Given the description of an element on the screen output the (x, y) to click on. 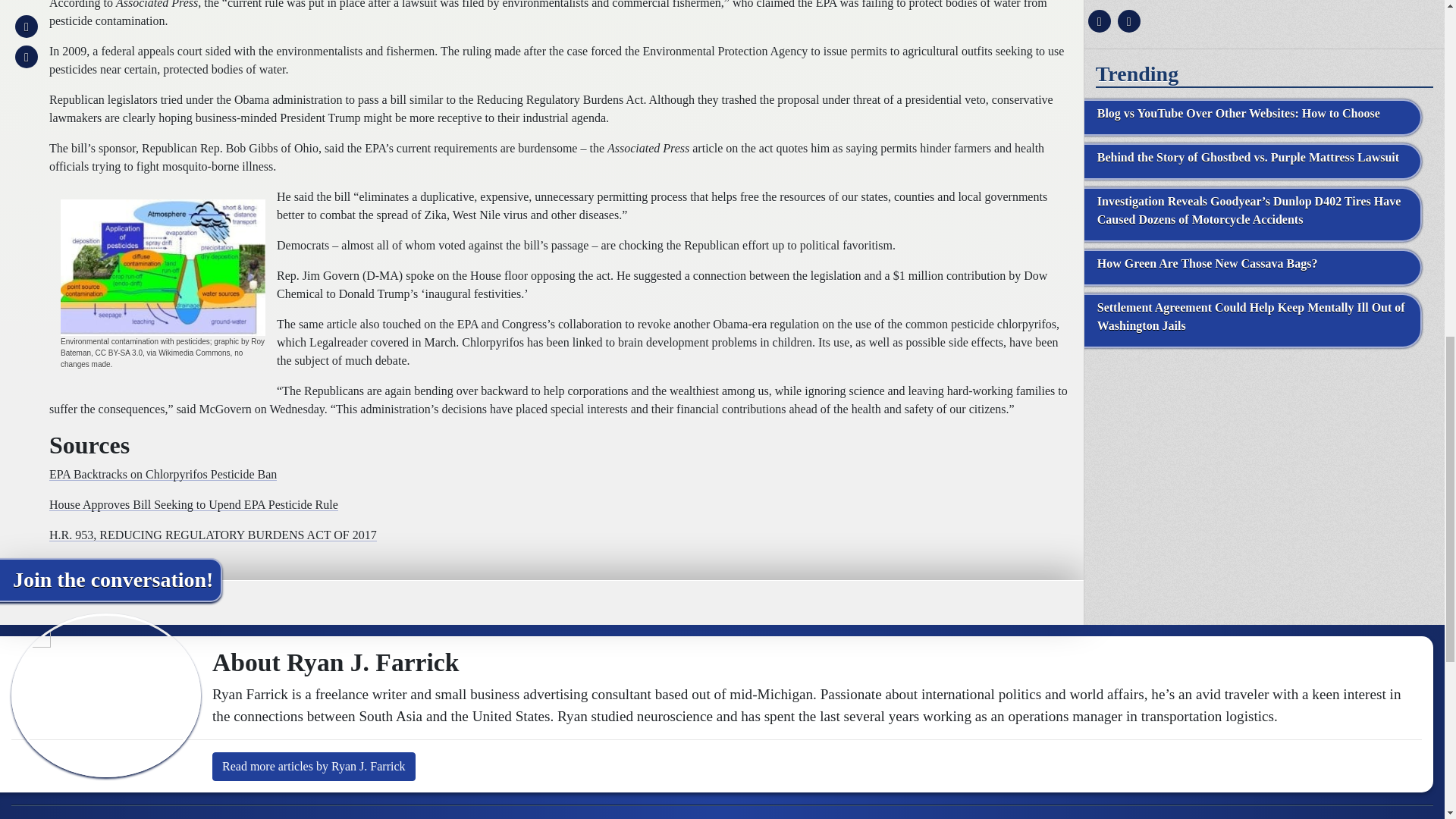
EPA Backtracks on Chlorpyrifos Pesticide Ban (162, 473)
H.R. 953, REDUCING REGULATORY BURDENS ACT OF 2017 (213, 534)
Read more articles by Ryan J. Farrick (313, 766)
Read more articles by Ryan J. Farrick (313, 766)
House Approves Bill Seeking to Upend EPA Pesticide Rule (193, 504)
